Given the description of an element on the screen output the (x, y) to click on. 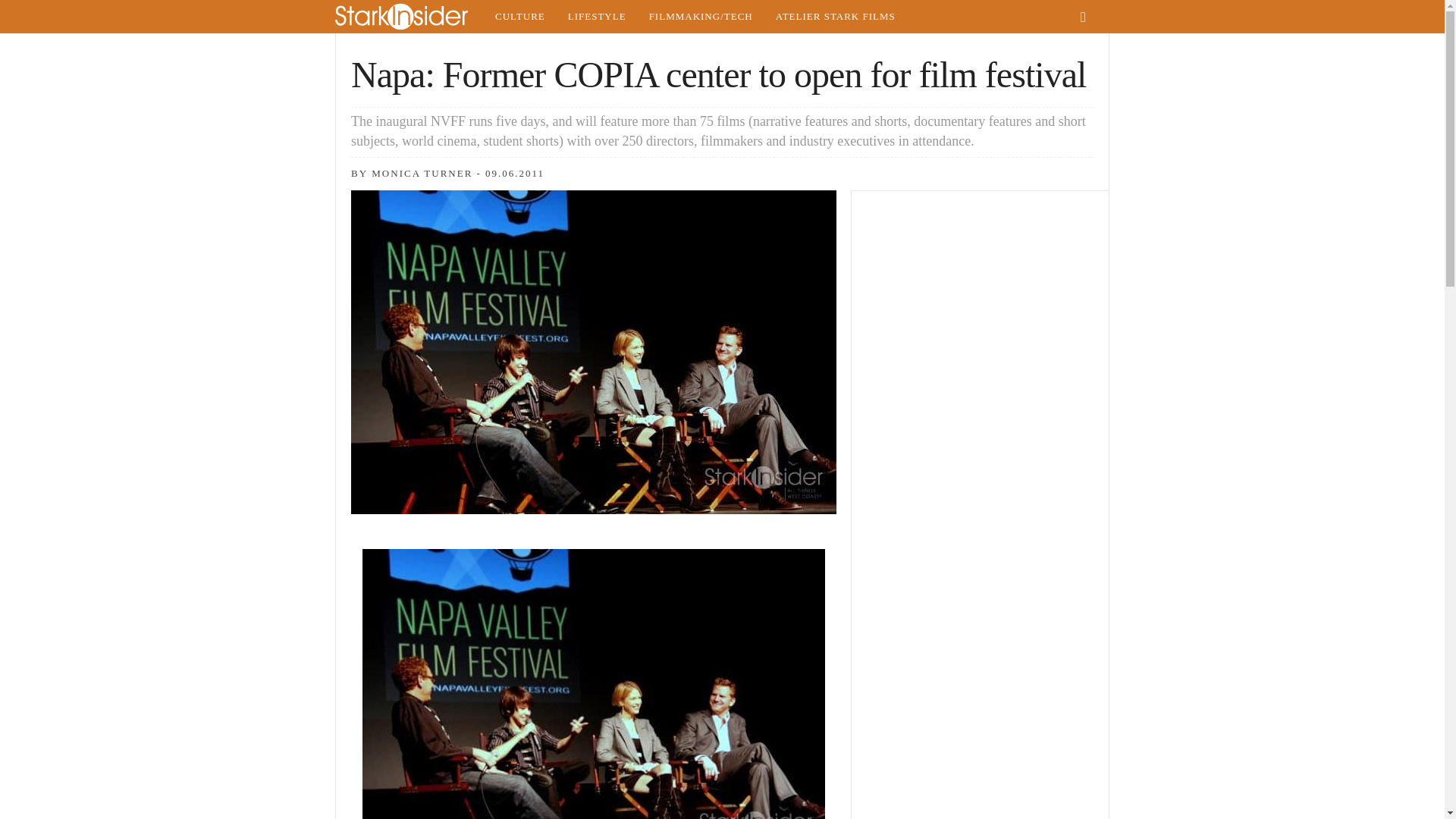
CULTURE (519, 16)
Napa Valley Film Festival (593, 683)
ATELIER STARK FILMS (835, 16)
Stark Insider (408, 16)
Indie film, music, arts in San Francisco and Silicon Valley (519, 16)
LIFESTYLE (596, 16)
MONICA TURNER (421, 173)
Tech, gadgets, camera news and reviews from Silicon Valley (700, 16)
